Given the description of an element on the screen output the (x, y) to click on. 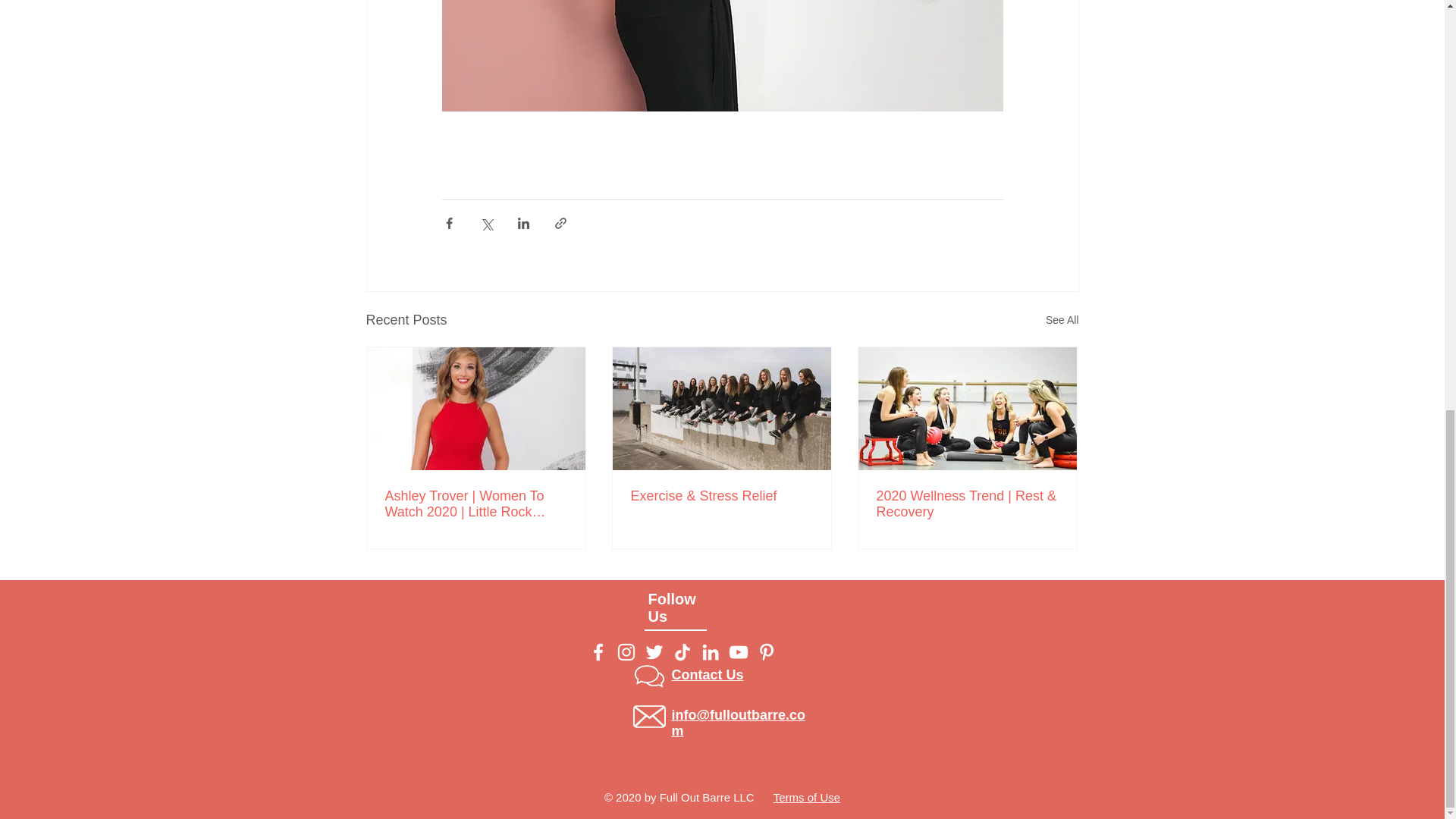
Contact Us (707, 674)
Terms of Use (806, 797)
See All (1061, 320)
